Given the description of an element on the screen output the (x, y) to click on. 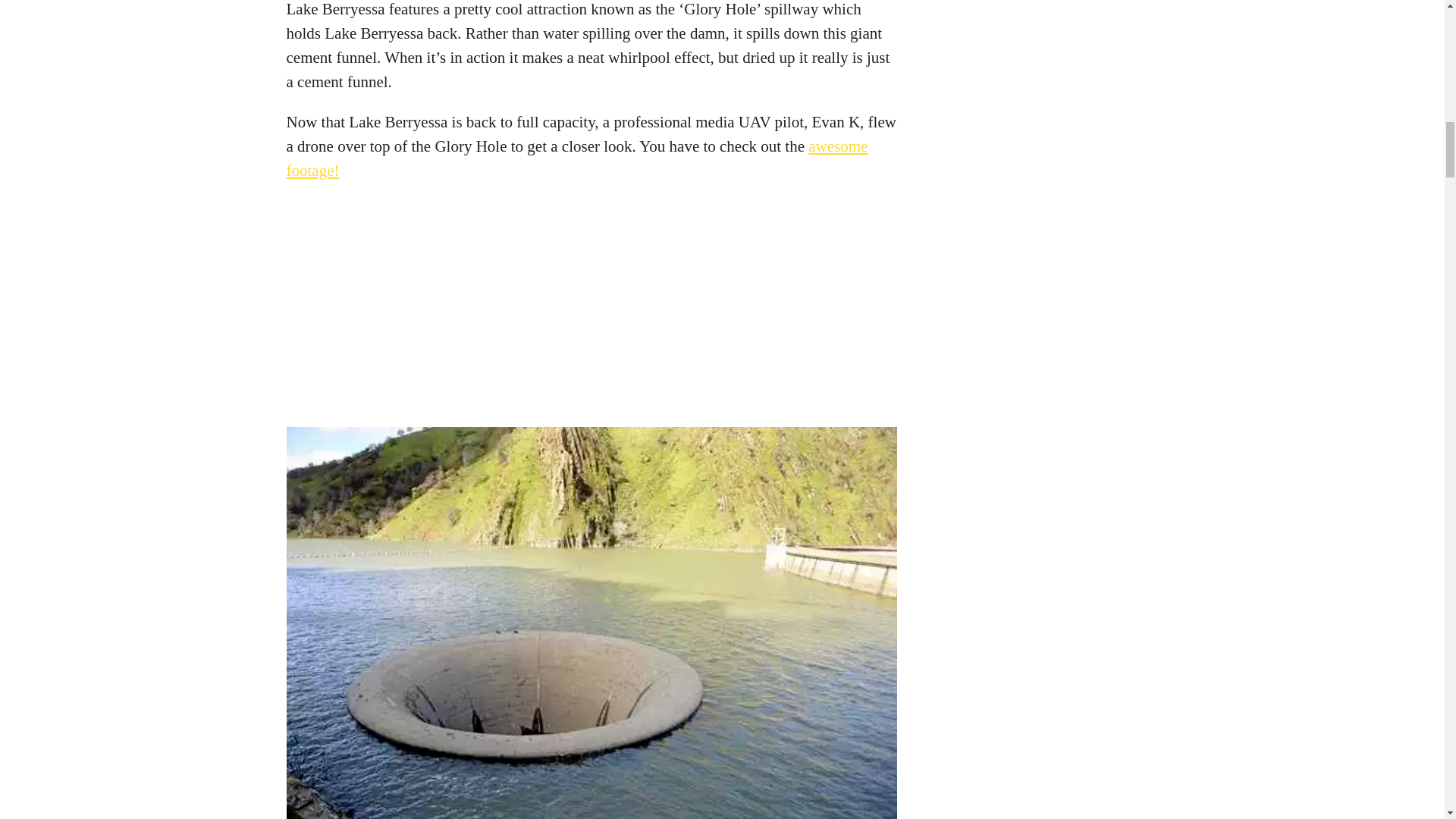
awesome footage! (576, 158)
